Given the description of an element on the screen output the (x, y) to click on. 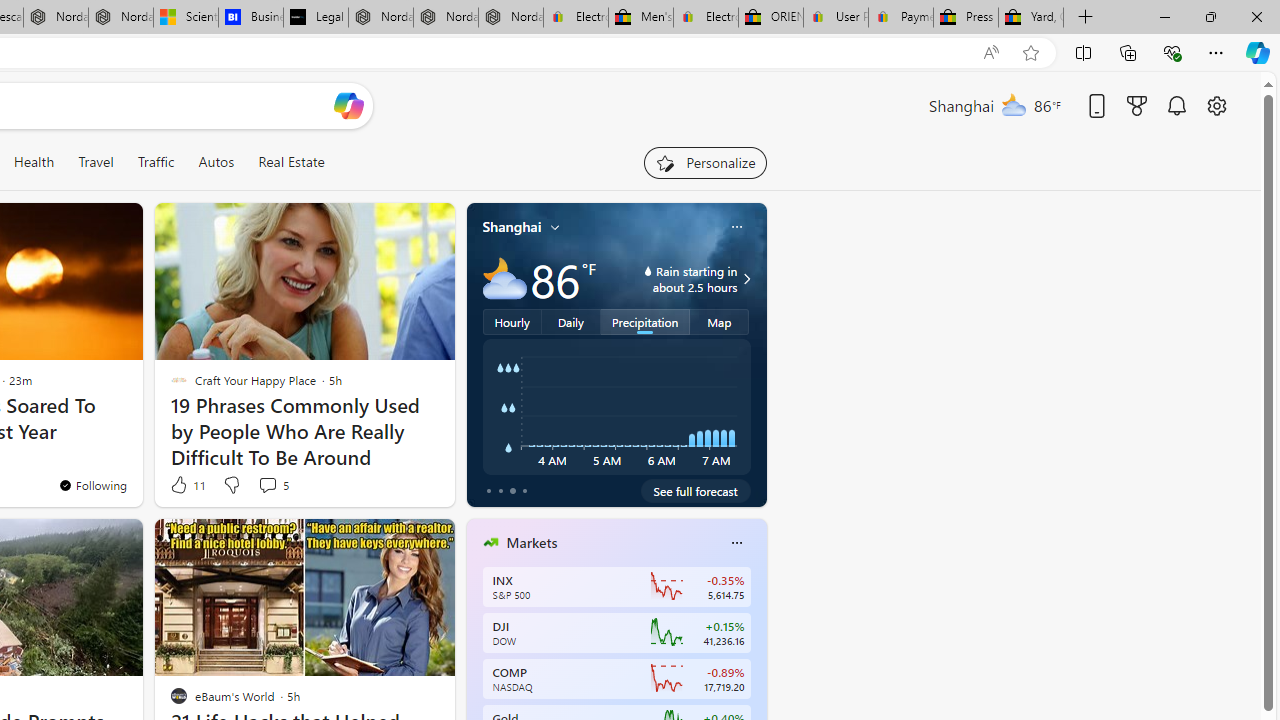
Notifications (1176, 105)
11 Like (186, 484)
Nordace - Summer Adventures 2024 (56, 17)
Real Estate (291, 161)
